Given the description of an element on the screen output the (x, y) to click on. 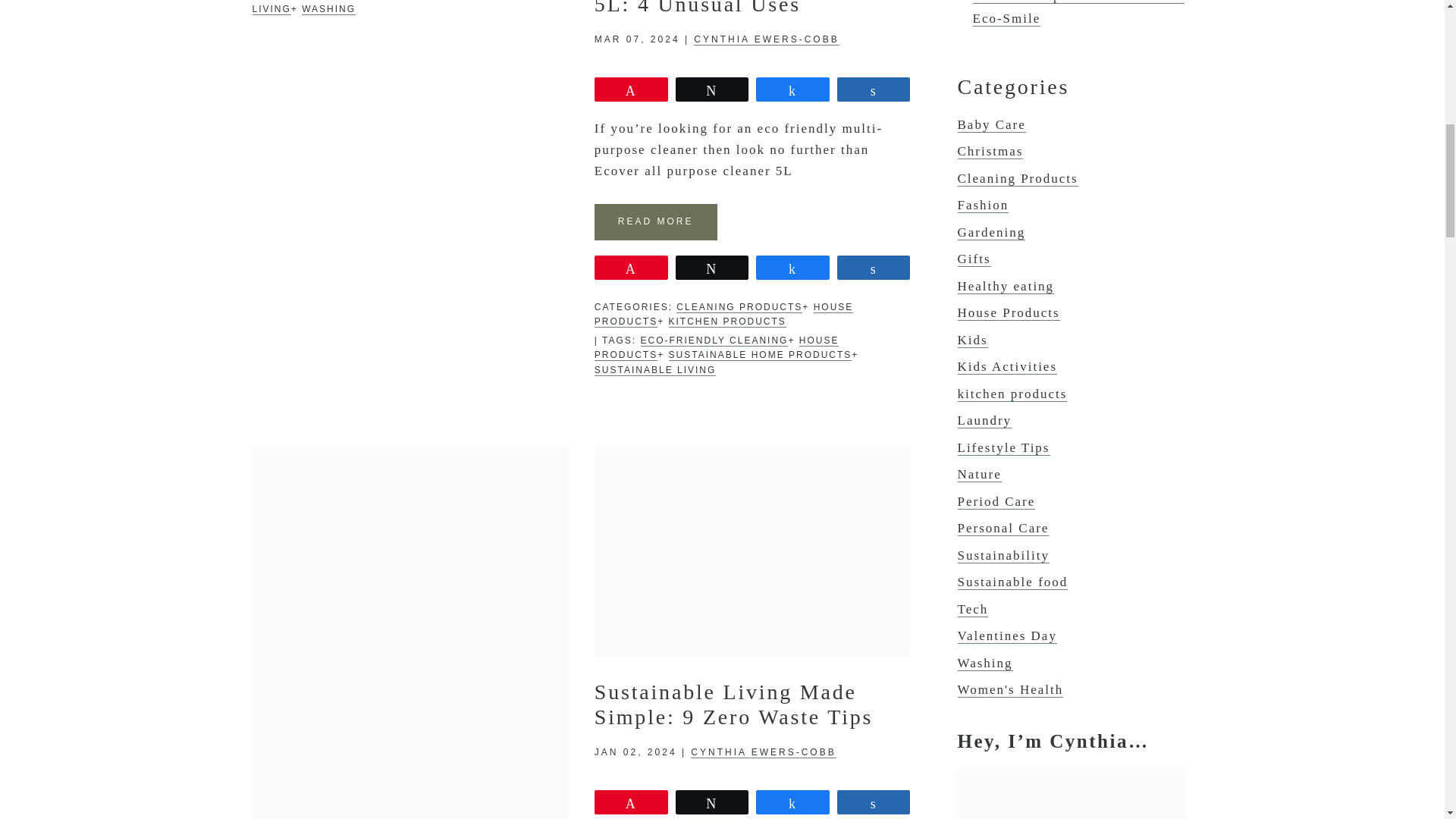
WASHING (328, 9)
Ecover All Purpose Cleaner 5L: 4 Unusual Uses (740, 8)
SUSTAINABLE LIVING (387, 7)
CYNTHIA EWERS-COBB (766, 39)
